Given the description of an element on the screen output the (x, y) to click on. 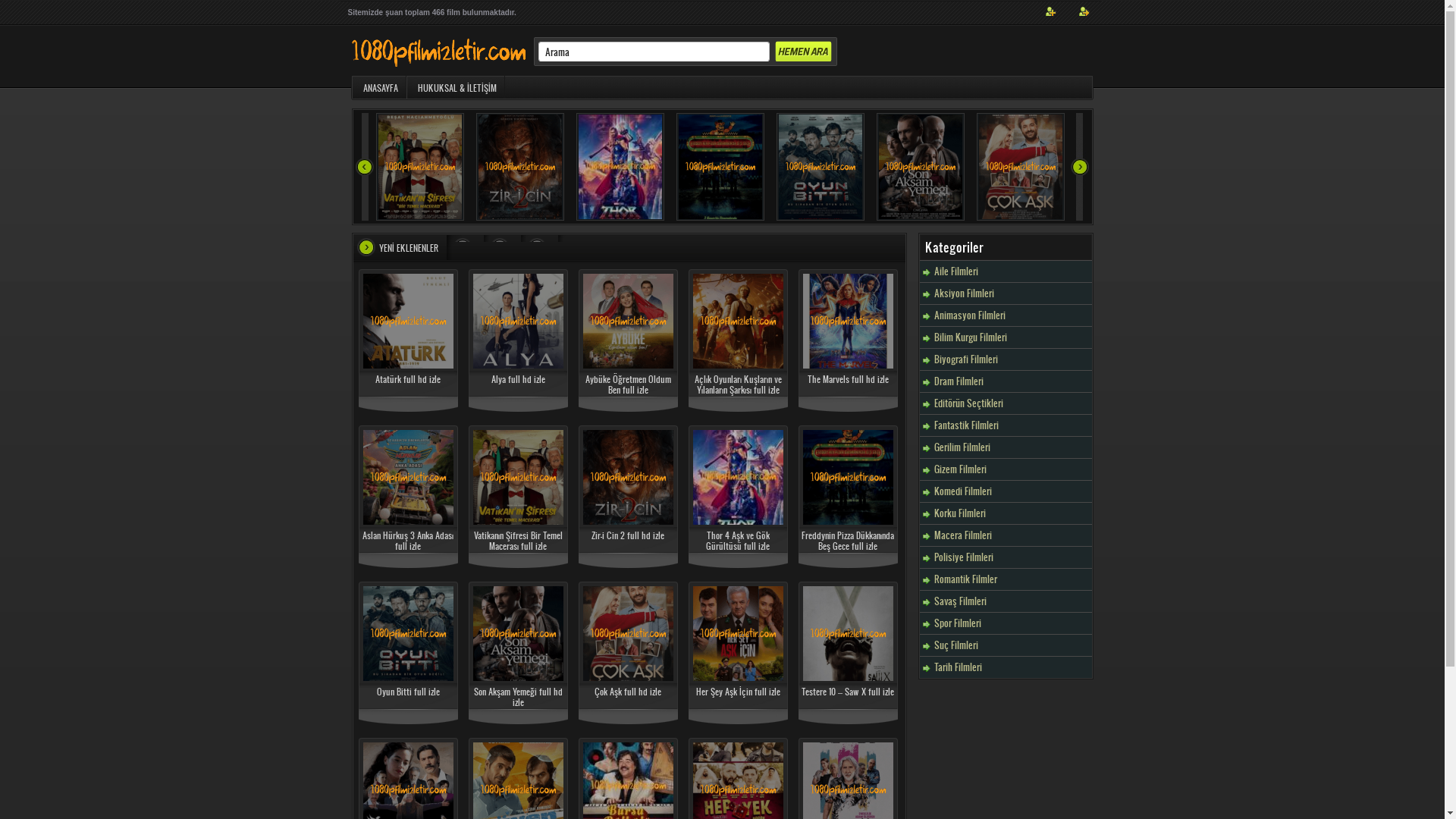
Aksiyon Filmleri Element type: text (1034, 293)
Oyun Bitti full izle Element type: text (407, 691)
Alya full hd izle Element type: text (518, 379)
Dram Filmleri Element type: text (1034, 381)
Gerilim Filmleri Element type: text (1034, 447)
Animasyon Filmleri Element type: text (1034, 315)
The Marvels full hd izle Element type: text (847, 379)
Aile Filmleri Element type: text (1034, 271)
2 geri Element type: hover (364, 166)
Fantastik Filmleri Element type: text (1034, 425)
Polisiye Filmleri Element type: text (1034, 556)
Tarih Filmleri Element type: text (1034, 666)
Romantik Filmler Element type: text (1034, 578)
Bilim Kurgu Filmleri Element type: text (1034, 337)
Macera Filmleri Element type: text (1034, 535)
Korku Filmleri Element type: text (1034, 513)
Biyografi Filmleri Element type: text (1034, 359)
ANASAYFA Element type: text (377, 86)
Komedi Filmleri Element type: text (1034, 491)
2 ileri Element type: hover (1080, 166)
Zir-i Cin 2 full hd izle Element type: text (627, 535)
YENI EKLENENLER Element type: text (404, 247)
Spor Filmleri Element type: text (1034, 622)
Gizem Filmleri Element type: text (1034, 469)
